Given the description of an element on the screen output the (x, y) to click on. 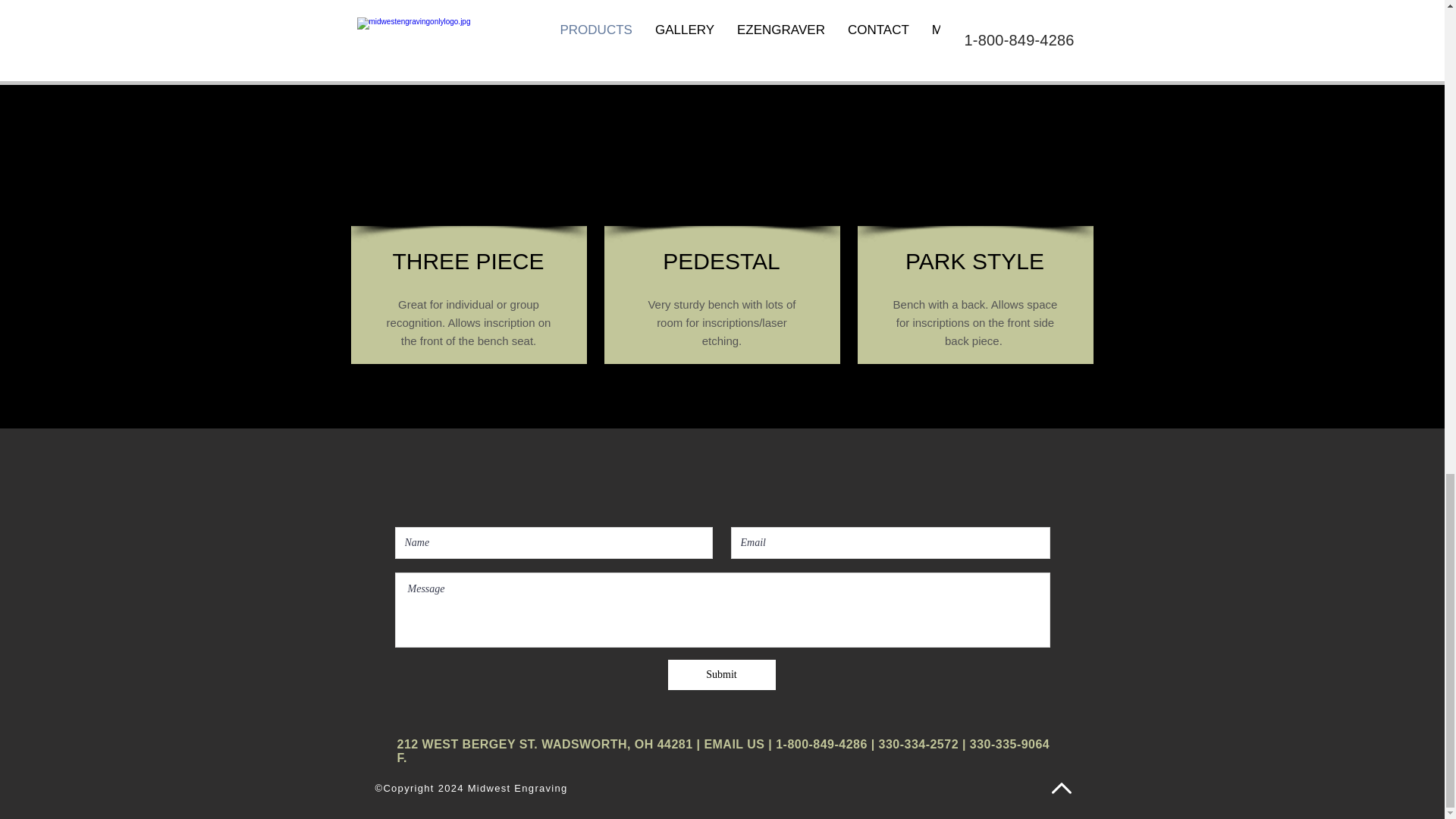
212 WEST BERGEY ST.  (469, 744)
Submit (720, 675)
Call  (674, 19)
330-335-9064 (1009, 744)
